Given the description of an element on the screen output the (x, y) to click on. 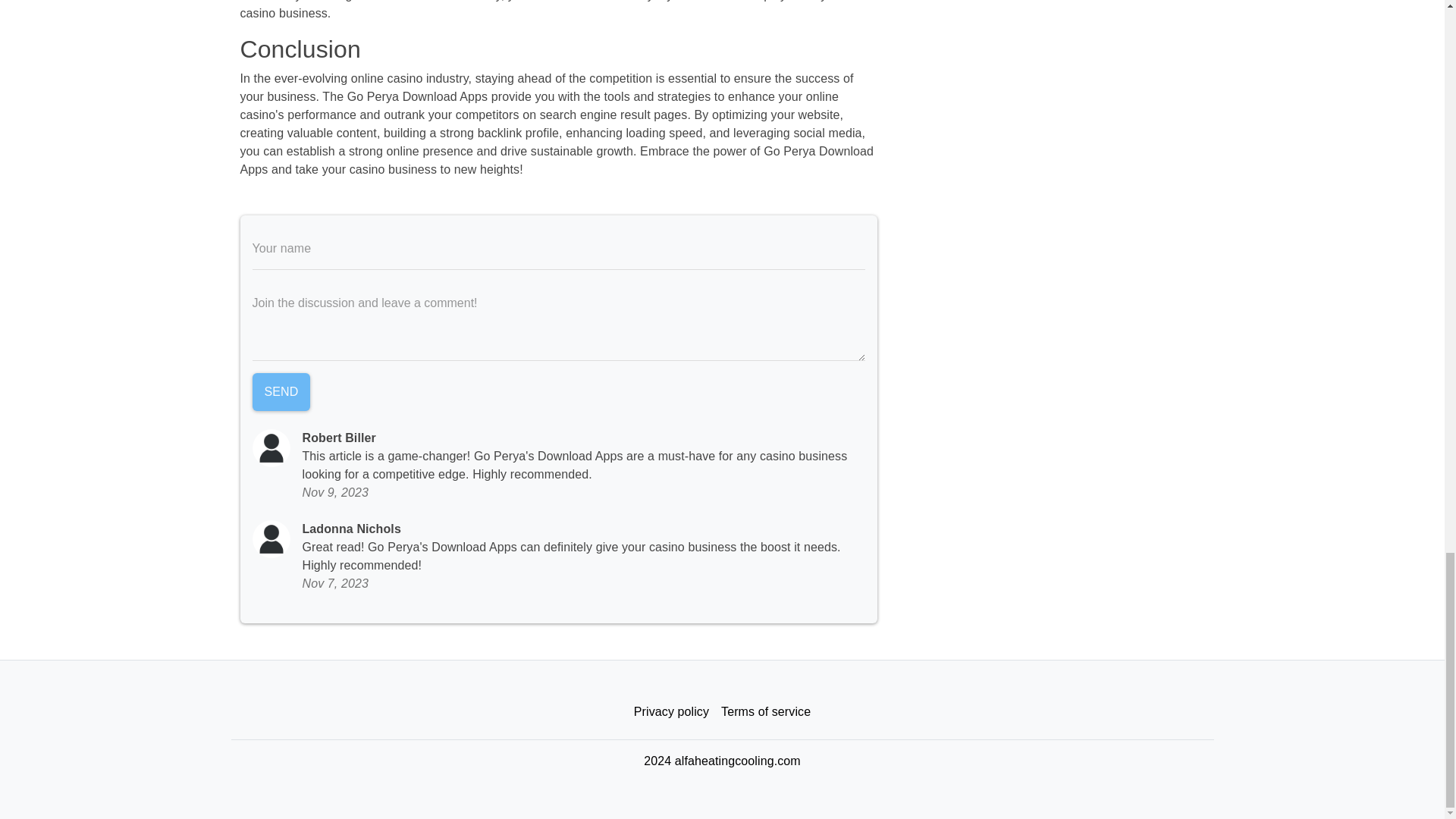
Send (280, 392)
Send (280, 392)
Privacy policy (670, 711)
Terms of service (765, 711)
